Given the description of an element on the screen output the (x, y) to click on. 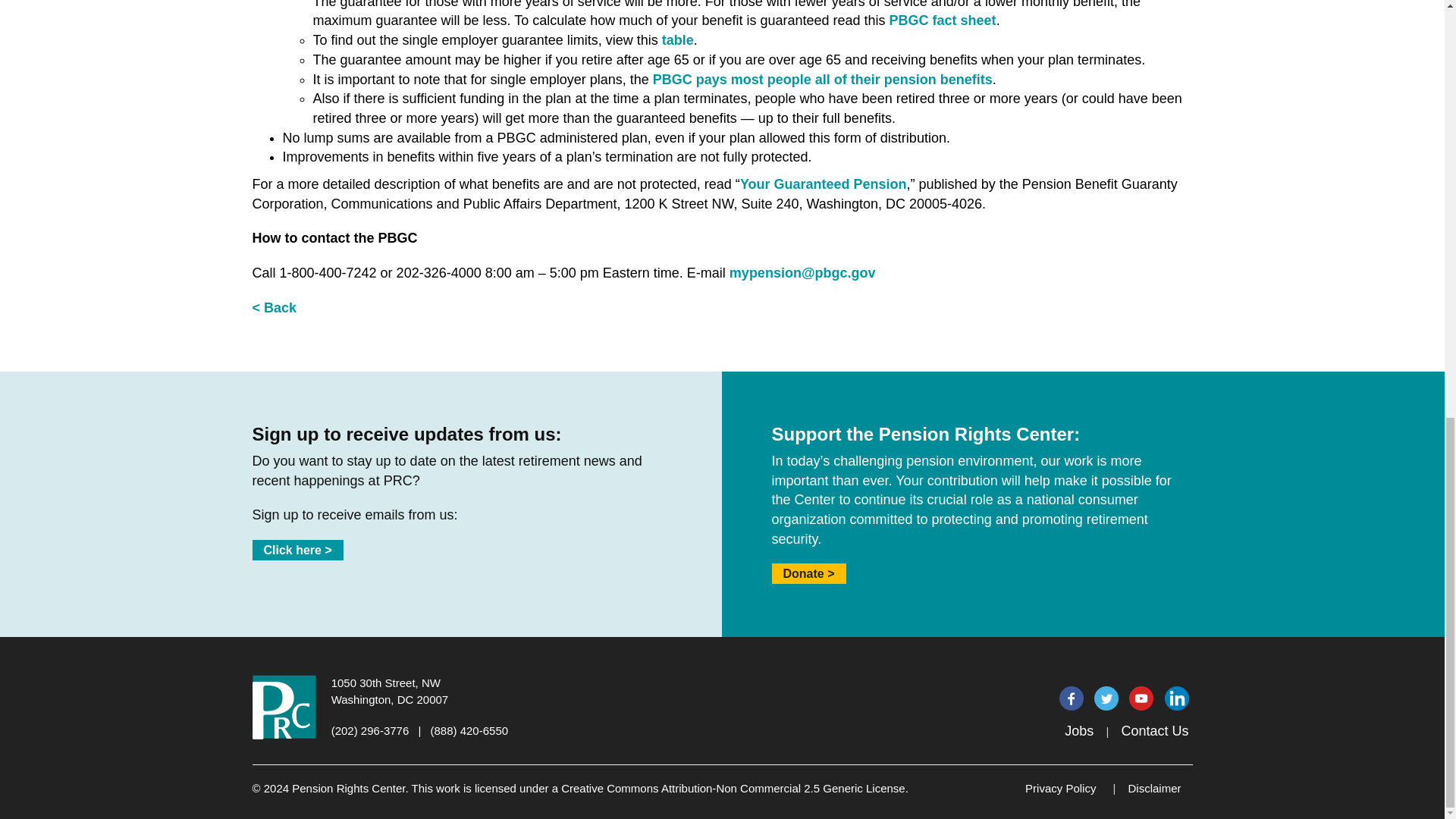
PBGC fact sheet (942, 20)
table (678, 39)
